Given the description of an element on the screen output the (x, y) to click on. 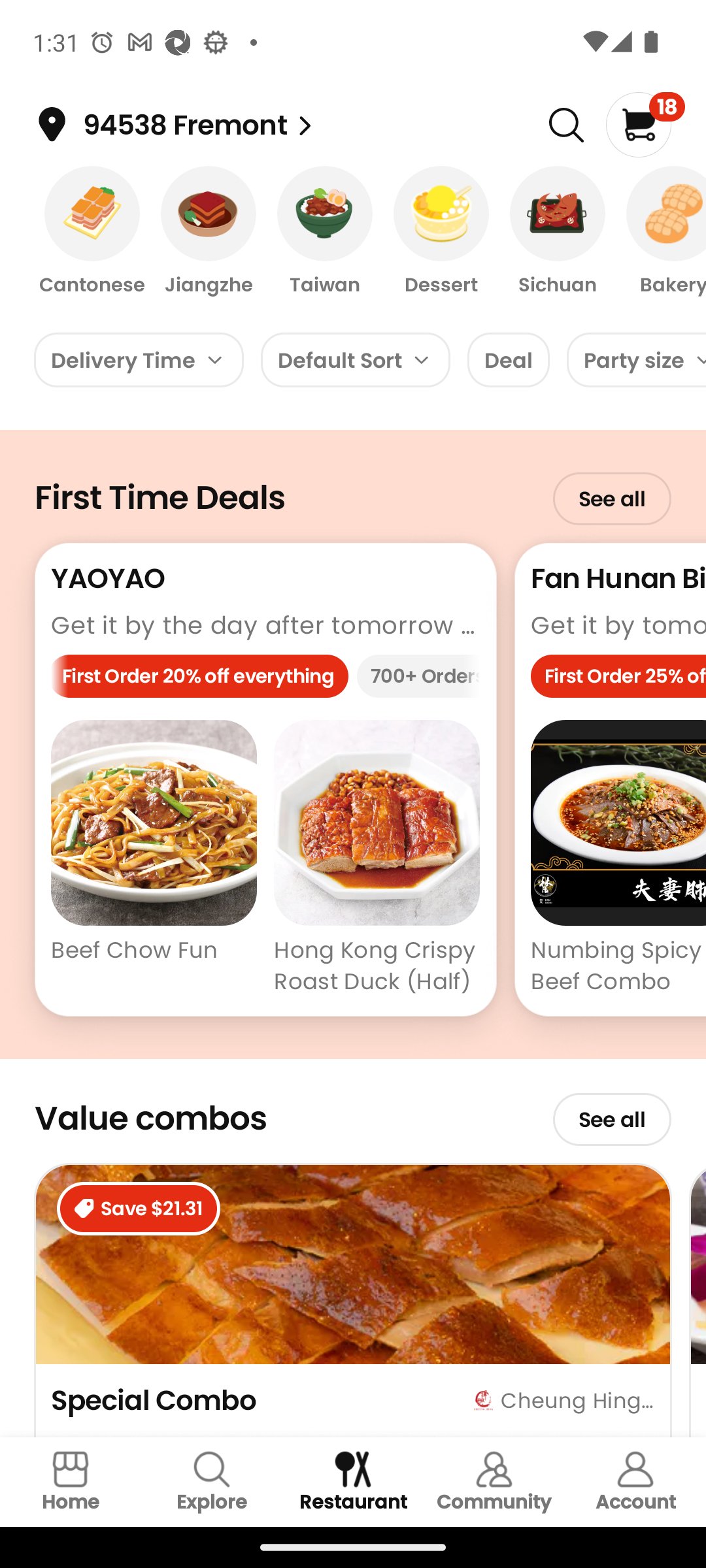
Image (565, 125)
94538 Fremont Image (304, 124)
18 (644, 124)
Image Cantonese (91, 231)
Image Jiangzhe (208, 231)
Image Taiwan (324, 231)
Image Dessert (441, 231)
Image Sichuan (557, 231)
Image Bakery (660, 231)
Delivery Time Image (138, 359)
Default Sort Image (355, 359)
Deal (508, 359)
Party size Image (636, 359)
First Time Deals See all (353, 485)
First Order 20% off everything 700+ Orders (265, 680)
First Order 25% off everything (618, 680)
Beef Chow Fun (153, 859)
Hong Kong Crispy Roast Duck (Half) (376, 859)
Numbing Spicy Beef Combo (618, 859)
Value combos See all (353, 1110)
Home (70, 1482)
Explore (211, 1482)
Restaurant (352, 1482)
Community (493, 1482)
Account (635, 1482)
